Given the description of an element on the screen output the (x, y) to click on. 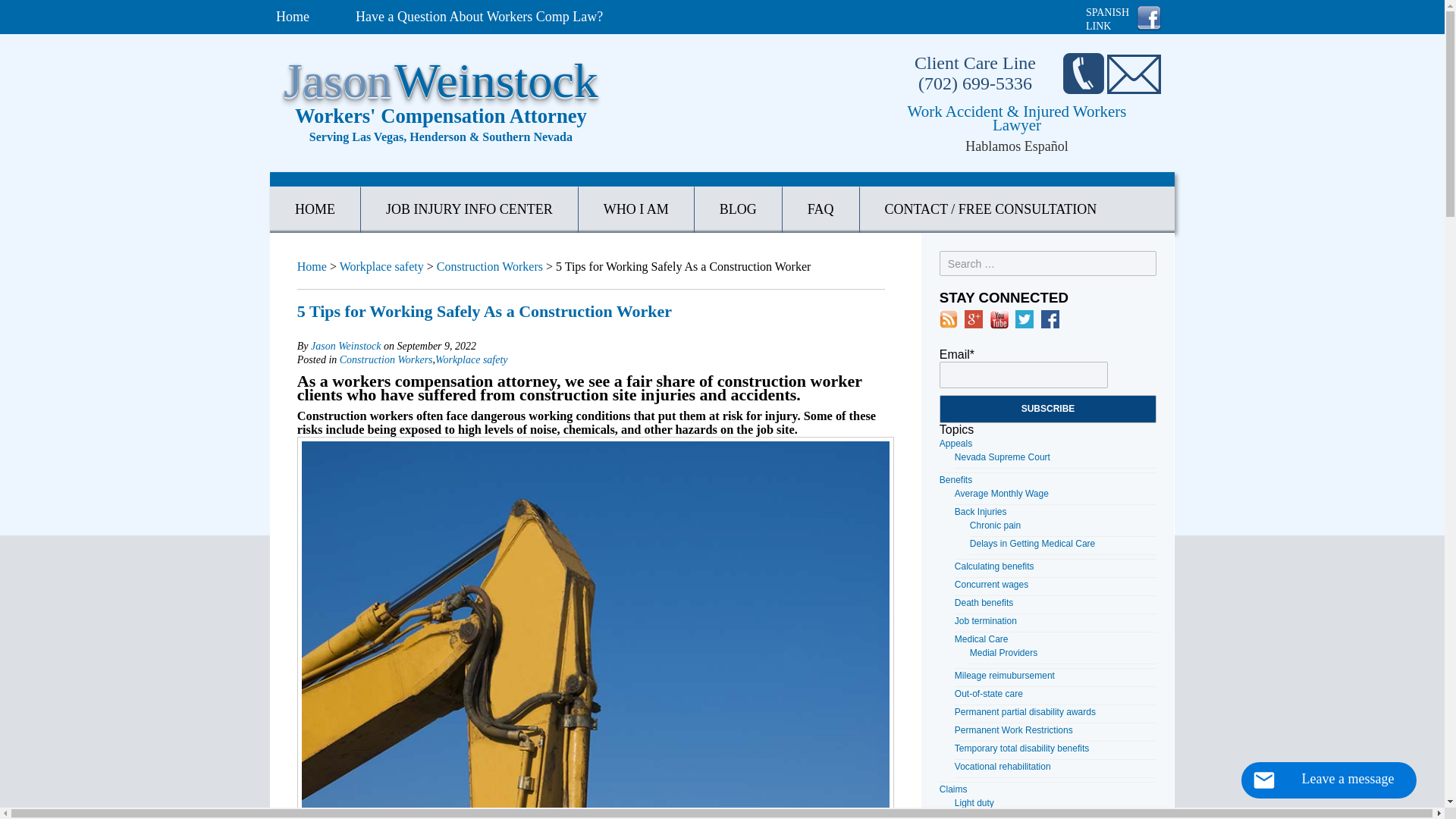
FAQ (821, 209)
Workplace safety (381, 266)
Home (311, 266)
Jason Weinstock (345, 346)
Subscribe (1047, 408)
Leave a message (1328, 780)
Home (292, 16)
Construction Workers (385, 359)
Workplace safety (471, 359)
BLOG (738, 209)
HOME (314, 209)
5 Tips for Working Safely As a Construction Worker (484, 311)
Have a Question About Workers Comp Law? (478, 16)
